Given the description of an element on the screen output the (x, y) to click on. 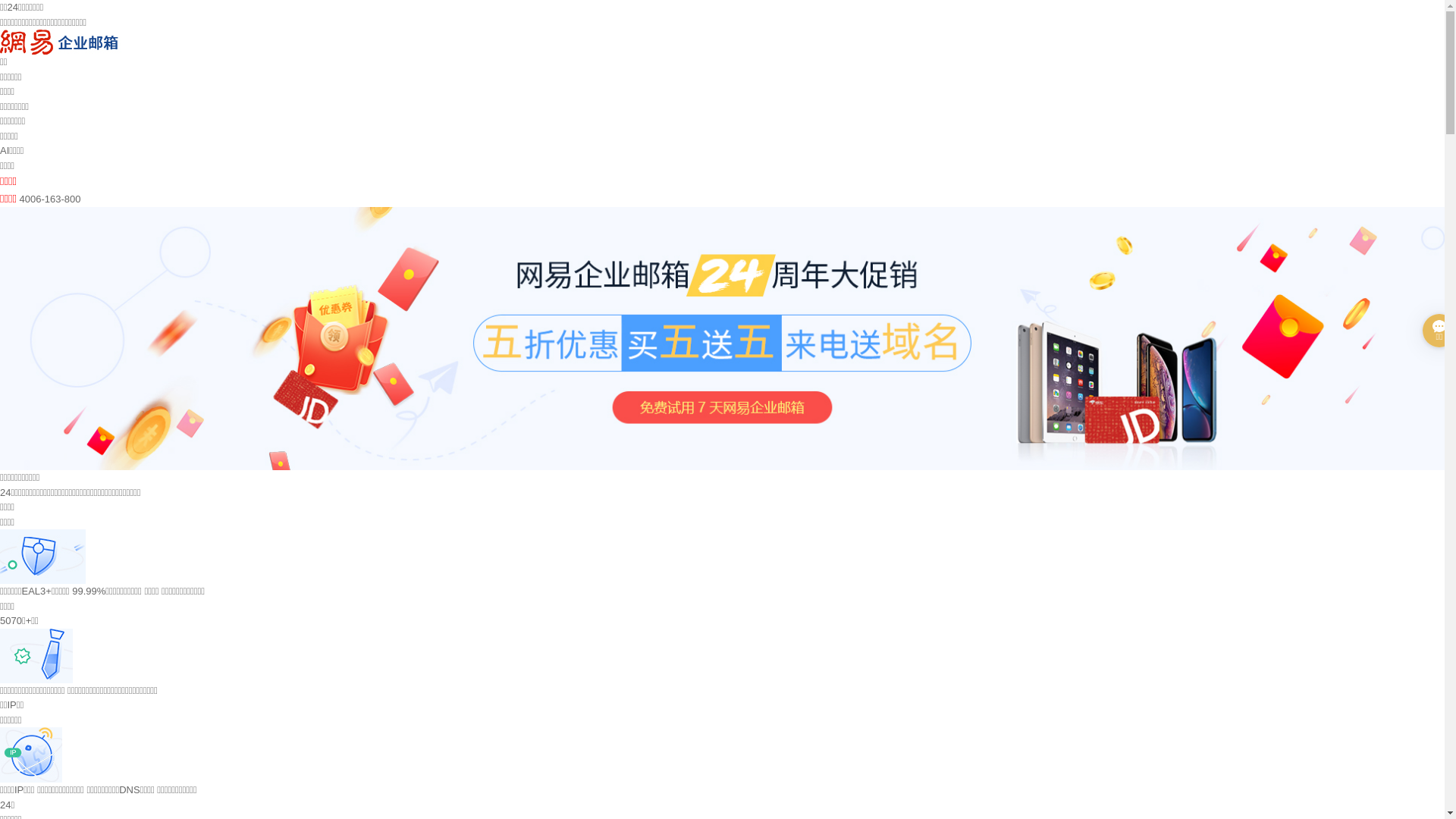
4006-163-800 Element type: text (50, 197)
